Given the description of an element on the screen output the (x, y) to click on. 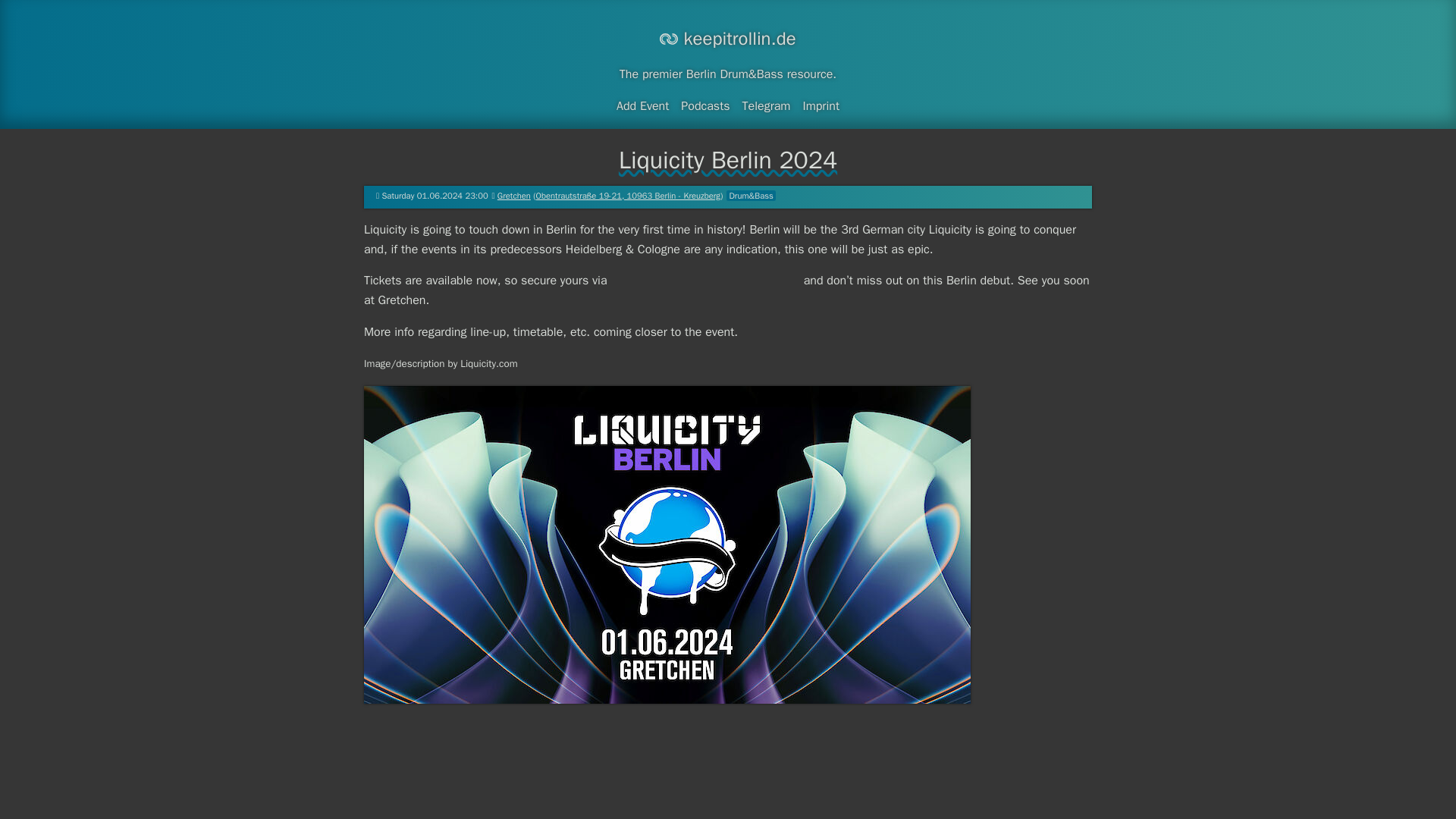
Add Event (641, 105)
Telegram (766, 105)
Podcasts (705, 105)
Imprint (821, 105)
keepitrollin.de (726, 38)
Gretchen (514, 195)
